Given the description of an element on the screen output the (x, y) to click on. 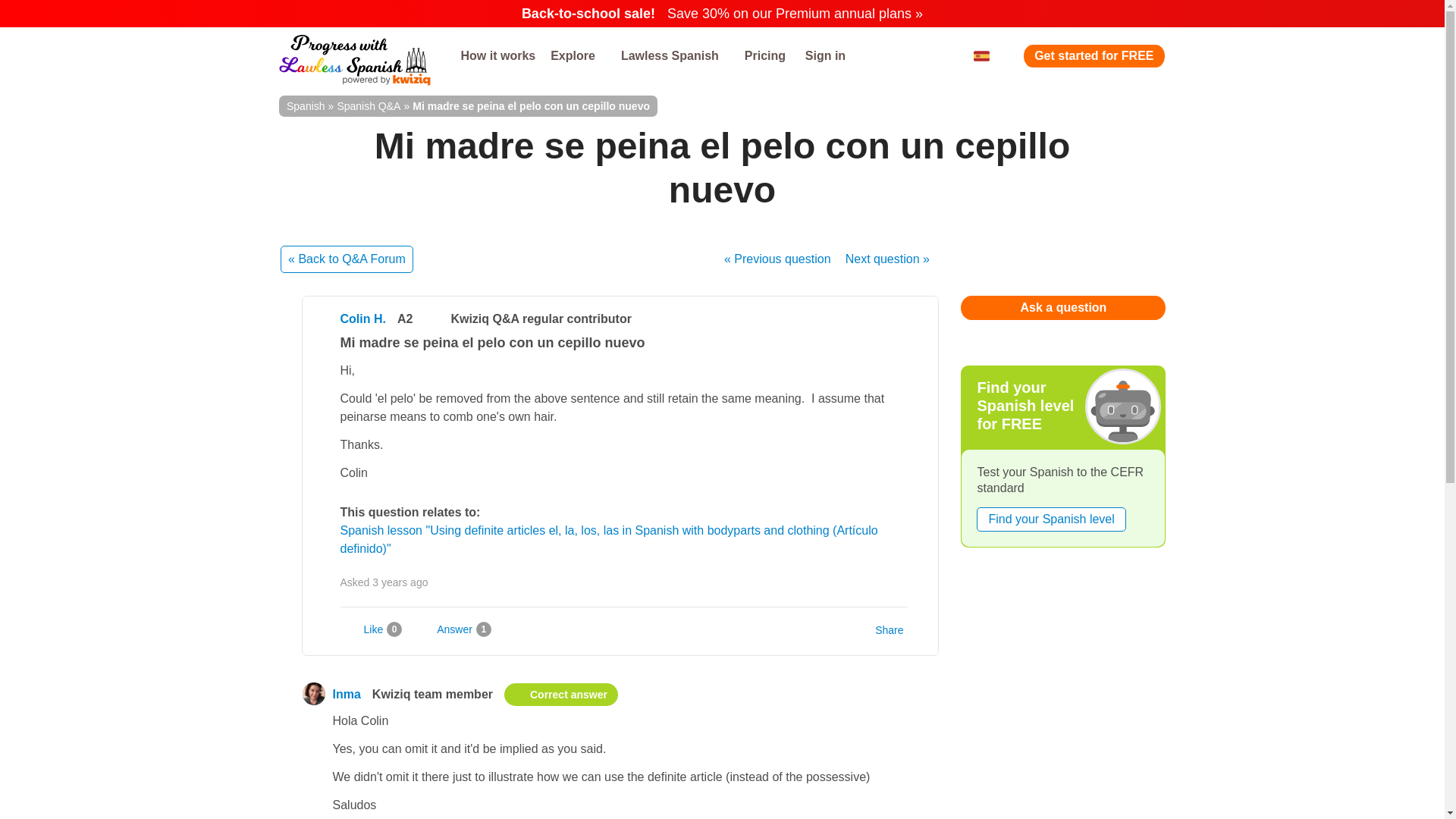
Explore (577, 56)
How it works (497, 56)
23rd May 2021 (400, 582)
Lawless Spanish (674, 56)
